Given the description of an element on the screen output the (x, y) to click on. 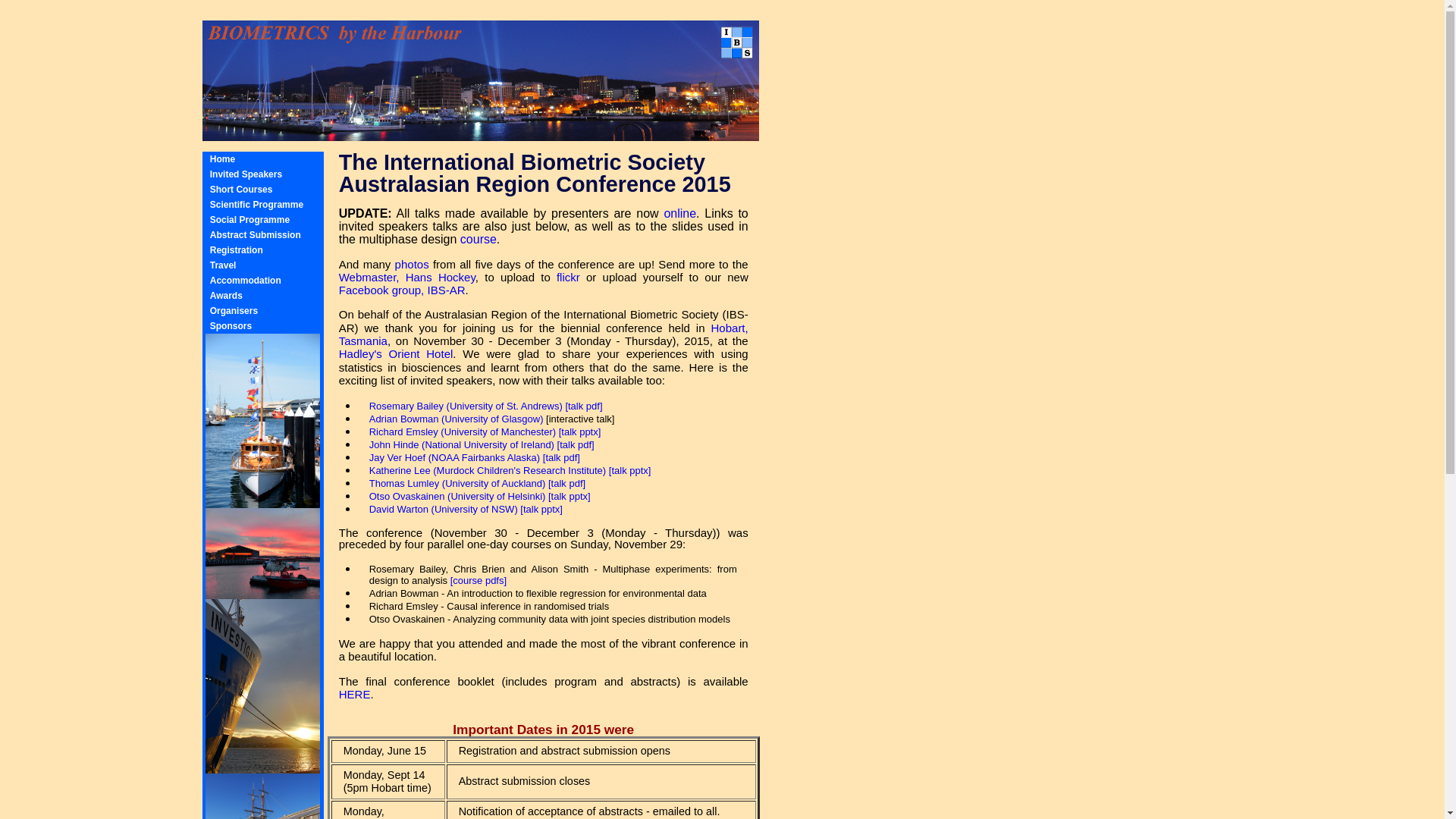
Registration Element type: text (236, 249)
Facebook group, IBS-AR Element type: text (401, 289)
  Element type: text (1, 6)
[talk pdf] Element type: text (561, 457)
photos Element type: text (412, 263)
online Element type: text (679, 213)
Hobart, Tasmania Element type: text (543, 334)
Otso Ovaskainen (University of Helsinki) Element type: text (457, 496)
Invited Speakers Element type: text (246, 174)
[course pdfs] Element type: text (478, 580)
course Element type: text (478, 238)
[talk pdf] Element type: text (566, 483)
Abstract Submission Element type: text (255, 234)
Webmaster, Hans Hockey Element type: text (406, 276)
[talk pdf] Element type: text (583, 405)
[talk pptx] Element type: text (579, 431)
[talk pptx] Element type: text (569, 496)
John Hinde (National University of Ireland) Element type: text (461, 444)
Travel Element type: text (223, 265)
flickr Element type: text (568, 276)
HERE Element type: text (354, 693)
Accommodation Element type: text (245, 280)
Sponsors Element type: text (230, 325)
[talk pdf] Element type: text (575, 444)
Organisers Element type: text (233, 310)
Thomas Lumley (University of Auckland) Element type: text (457, 483)
Hadley's Orient Hotel Element type: text (395, 353)
Social Programme Element type: text (249, 219)
[talk pptx] Element type: text (541, 508)
Awards Element type: text (226, 295)
Scientific Programme Element type: text (256, 204)
Adrian Bowman (University of Glasgow) Element type: text (456, 418)
Katherine Lee (Murdock Children's Research Institute) Element type: text (487, 470)
Important Dates in 2015 were Element type: text (542, 729)
Short Courses Element type: text (241, 189)
[talk pptx] Element type: text (629, 470)
David Warton (University of NSW) Element type: text (443, 508)
Richard Emsley (University of Manchester) Element type: text (462, 431)
Jay Ver Hoef (NOAA Fairbanks Alaska) Element type: text (454, 457)
Home Element type: text (222, 158)
Rosemary Bailey (University of St. Andrews) Element type: text (465, 405)
